Given the description of an element on the screen output the (x, y) to click on. 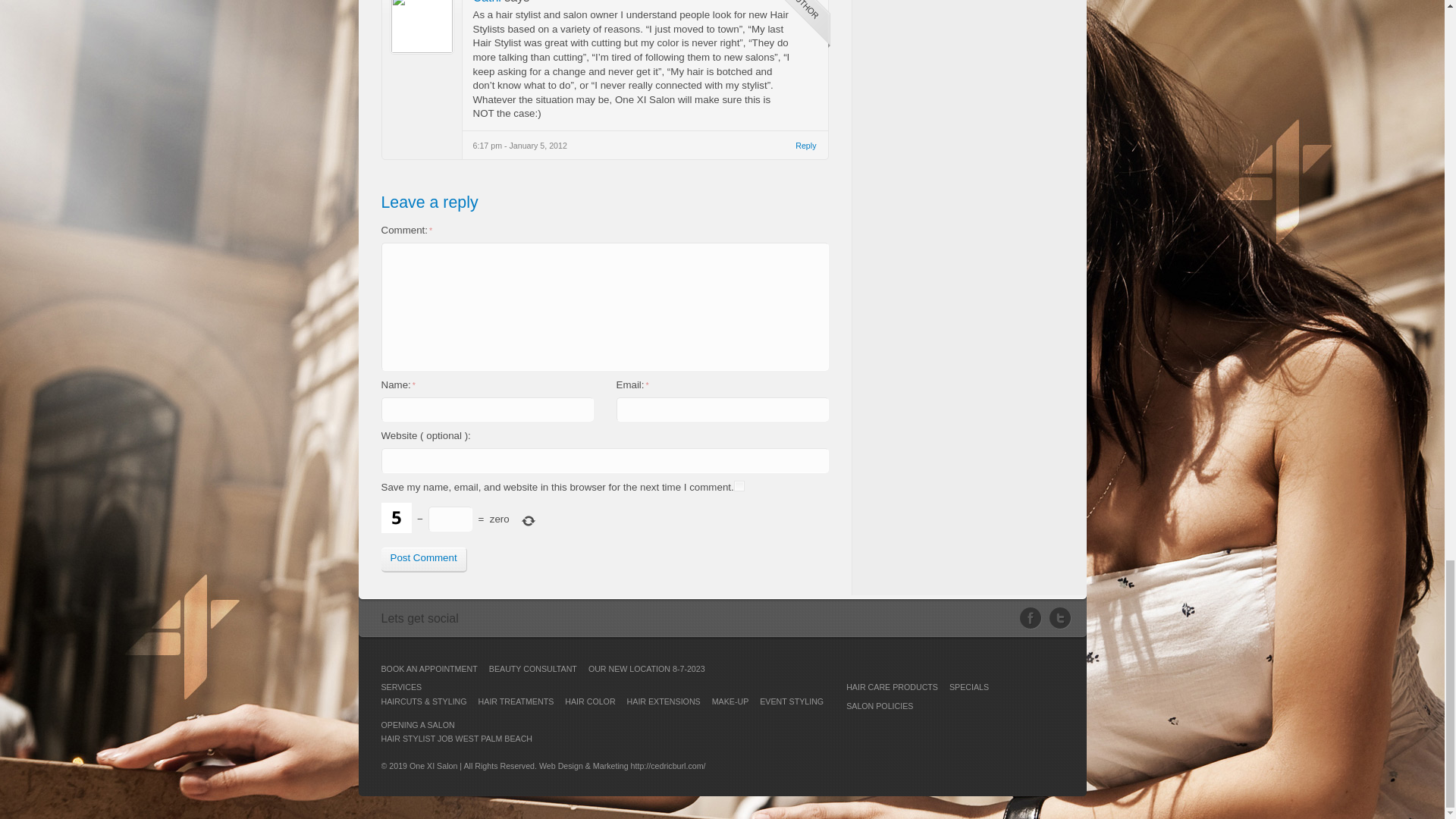
HAIR TREATMENTS (516, 700)
Post Comment (422, 559)
BOOK AN APPOINTMENT (428, 668)
Facebook (1033, 618)
OUR NEW LOCATION 8-7-2023 (646, 668)
SERVICES (401, 686)
Post Comment (422, 559)
BEAUTY CONSULTANT (532, 668)
Reply (804, 145)
Twitter (1060, 618)
Facebook (1033, 618)
Twitter (1060, 618)
